Given the description of an element on the screen output the (x, y) to click on. 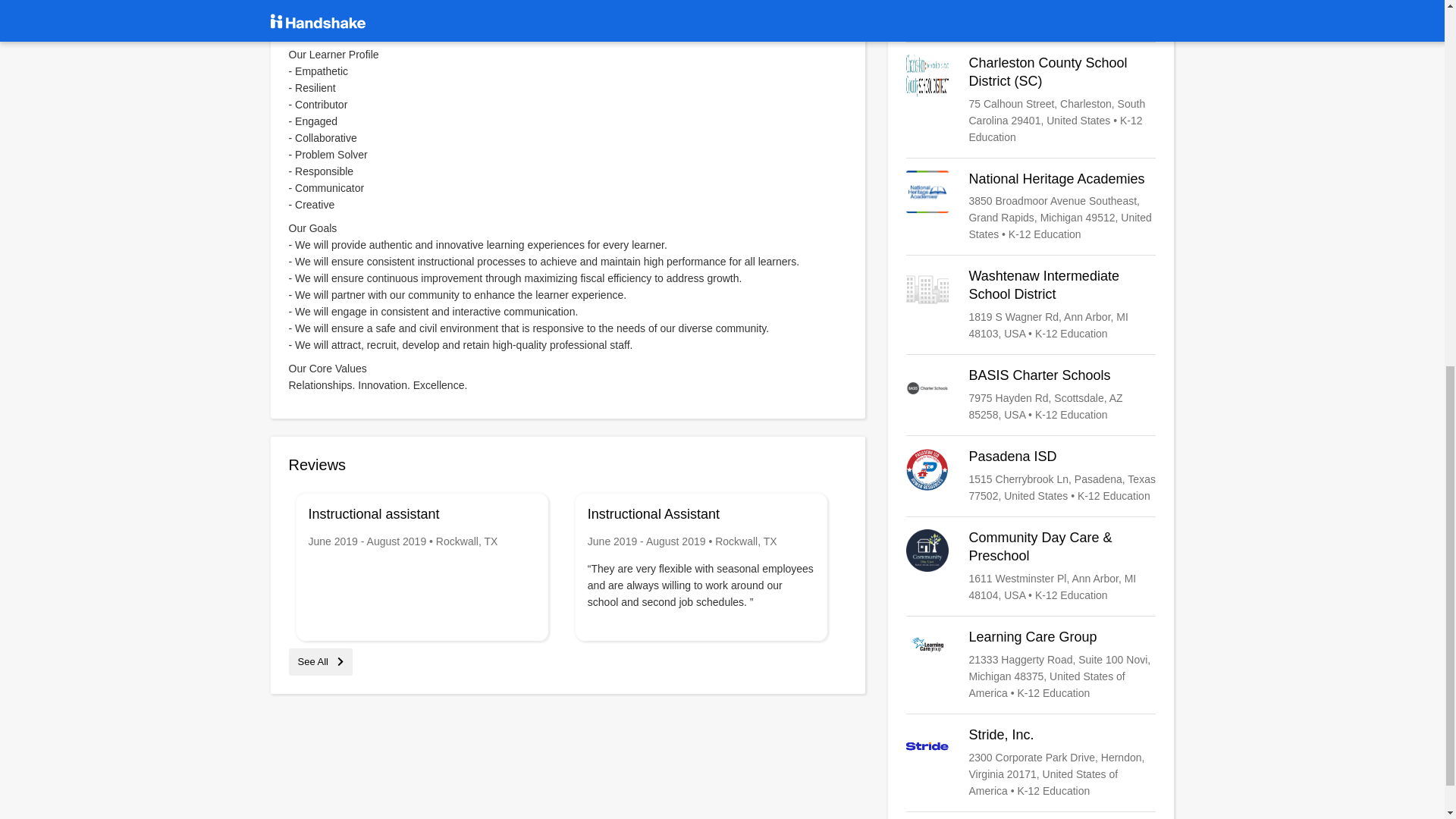
Ann Arbor Public Schools (1030, 14)
See All (320, 661)
Stride, Inc. (1030, 762)
Pasadena ISD (1030, 475)
BASIS Charter Schools (1030, 394)
Washtenaw Intermediate School District (1030, 304)
Learning Care Group (1030, 664)
National Heritage Academies (1030, 206)
